Given the description of an element on the screen output the (x, y) to click on. 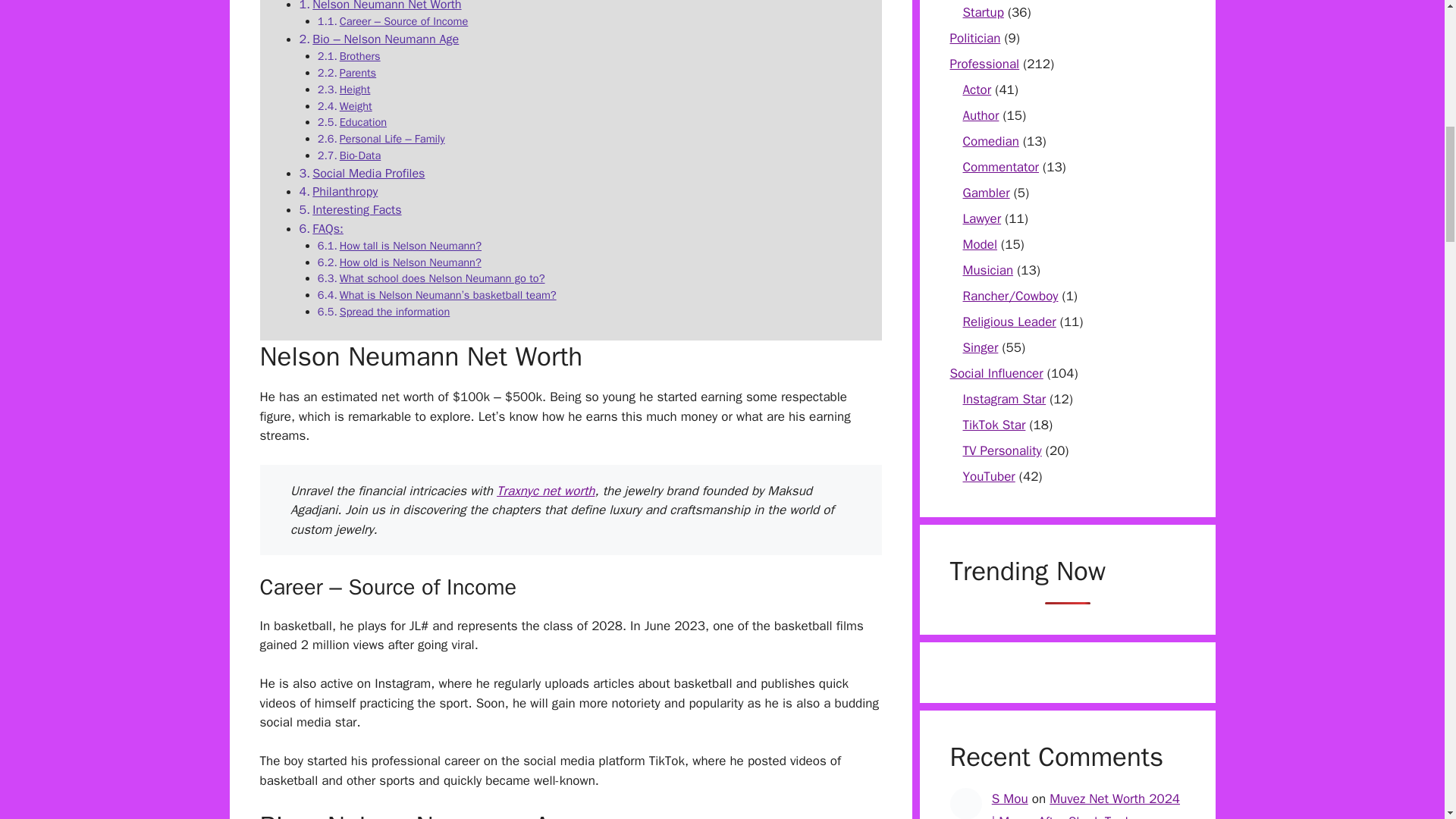
Weight (355, 106)
Parents (357, 72)
Nelson Neumann Net Worth (387, 6)
Height (355, 89)
Brothers (359, 56)
Education (363, 121)
